Given the description of an element on the screen output the (x, y) to click on. 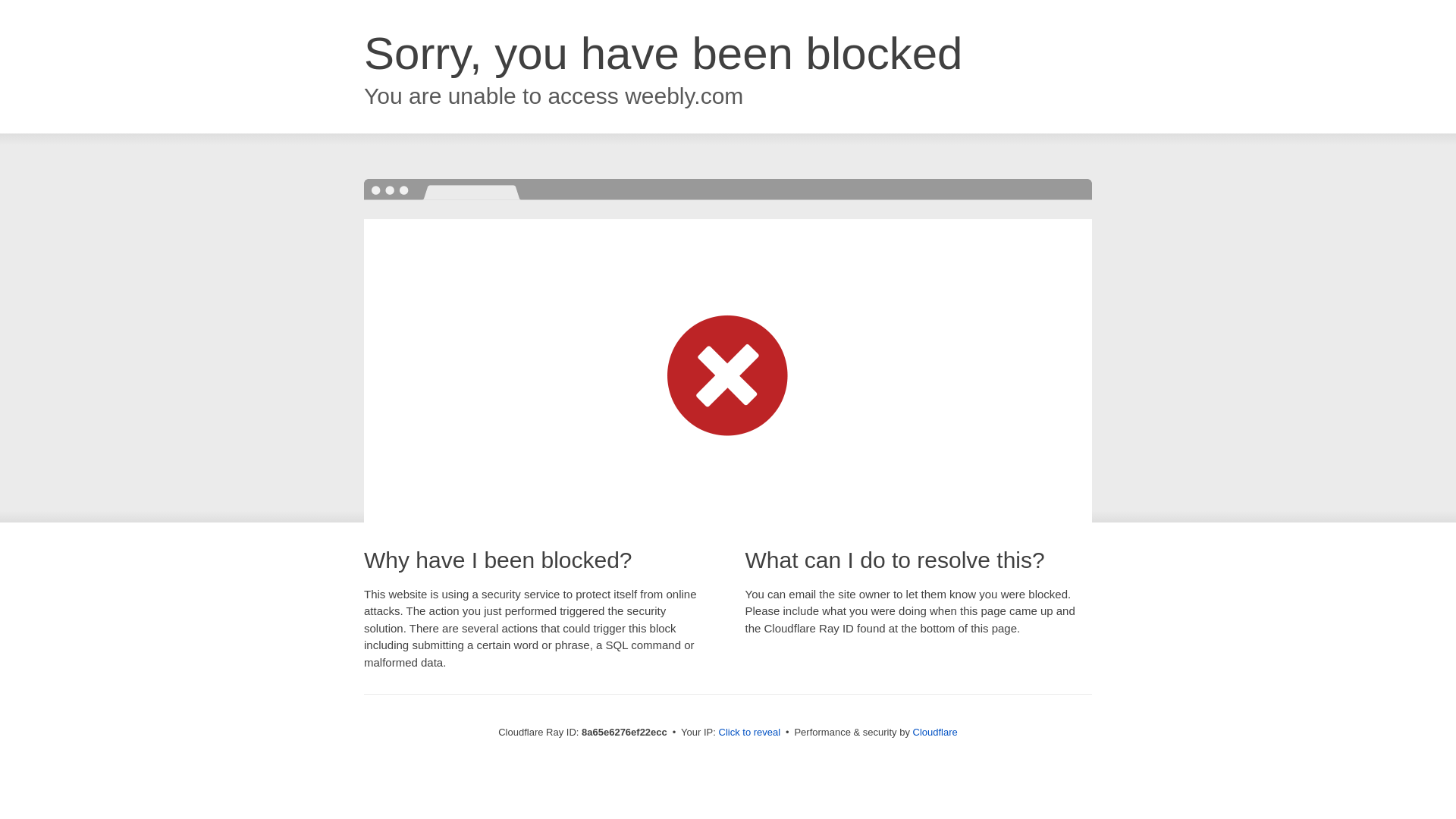
Cloudflare (935, 731)
Click to reveal (749, 732)
